Given the description of an element on the screen output the (x, y) to click on. 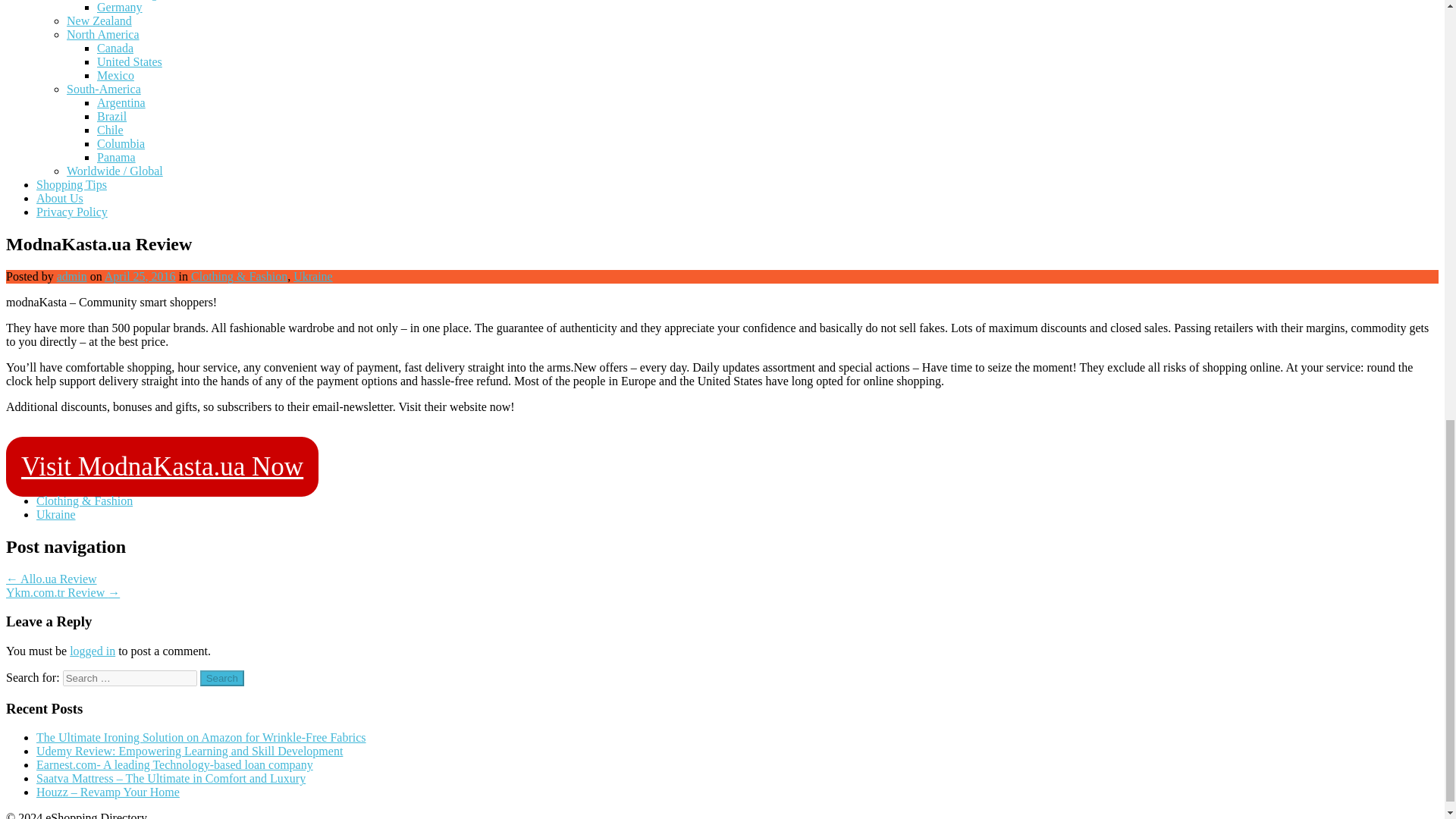
Search (222, 678)
Search (222, 678)
